Given the description of an element on the screen output the (x, y) to click on. 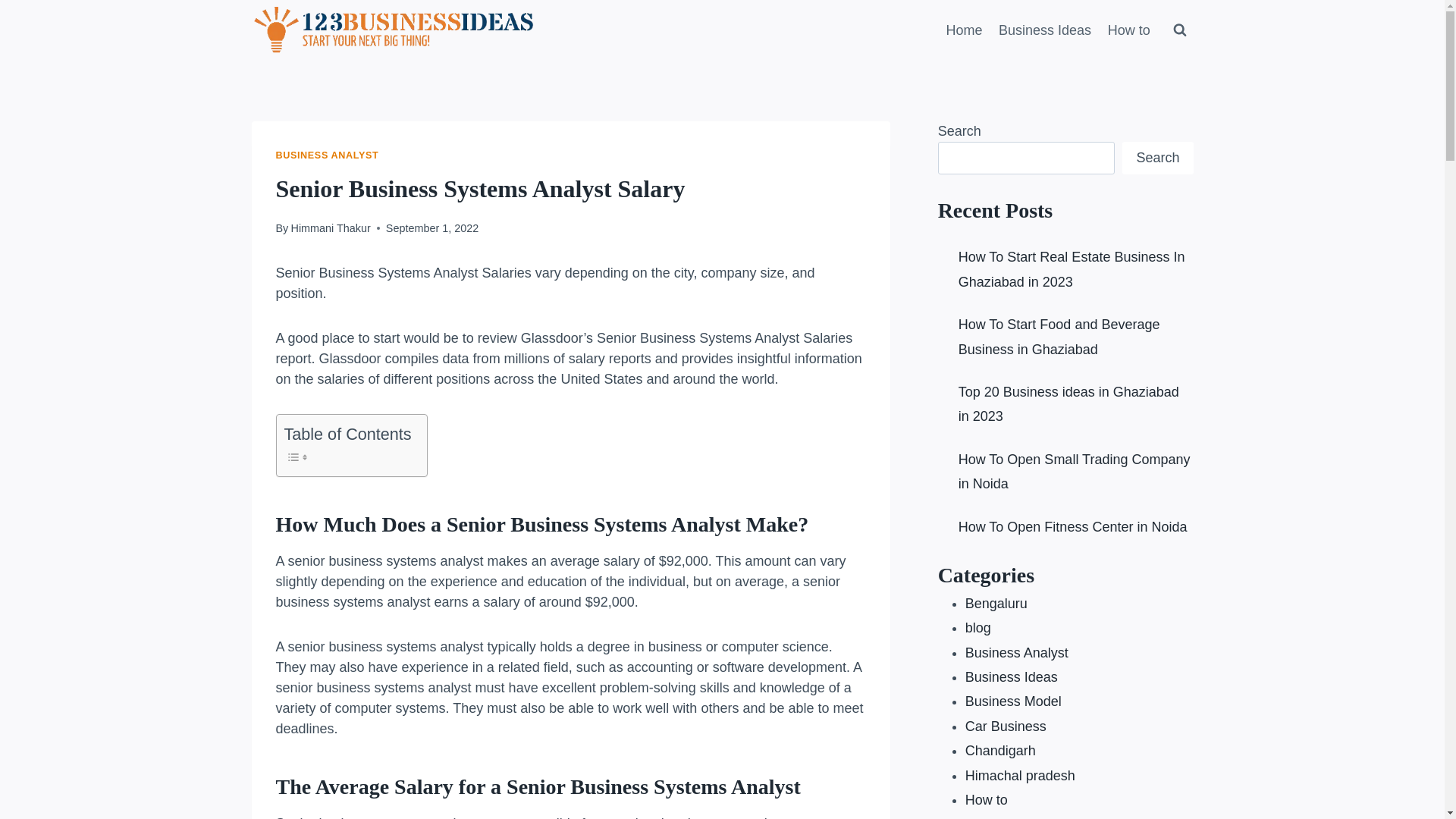
Himachal pradesh Element type: text (1020, 775)
Home Element type: text (964, 30)
How To Start Food and Beverage Business in Ghaziabad Element type: text (1059, 336)
How to Element type: text (986, 799)
Chandigarh Element type: text (1000, 750)
How To Open Fitness Center in Noida Element type: text (1072, 525)
Business Analyst Element type: text (1016, 652)
How to Element type: text (1128, 30)
Himmani Thakur Element type: text (330, 228)
Bengaluru Element type: text (996, 603)
blog Element type: text (978, 627)
Business Model Element type: text (1013, 701)
How To Open Small Trading Company in Noida Element type: text (1074, 471)
Business Ideas Element type: text (1044, 30)
BUSINESS ANALYST Element type: text (327, 155)
Car Business Element type: text (1005, 726)
Top 20 Business ideas in Ghaziabad in 2023 Element type: text (1068, 403)
Search Element type: text (1157, 157)
Business Ideas Element type: text (1011, 676)
How To Start Real Estate Business In Ghaziabad in 2023 Element type: text (1071, 268)
